Given the description of an element on the screen output the (x, y) to click on. 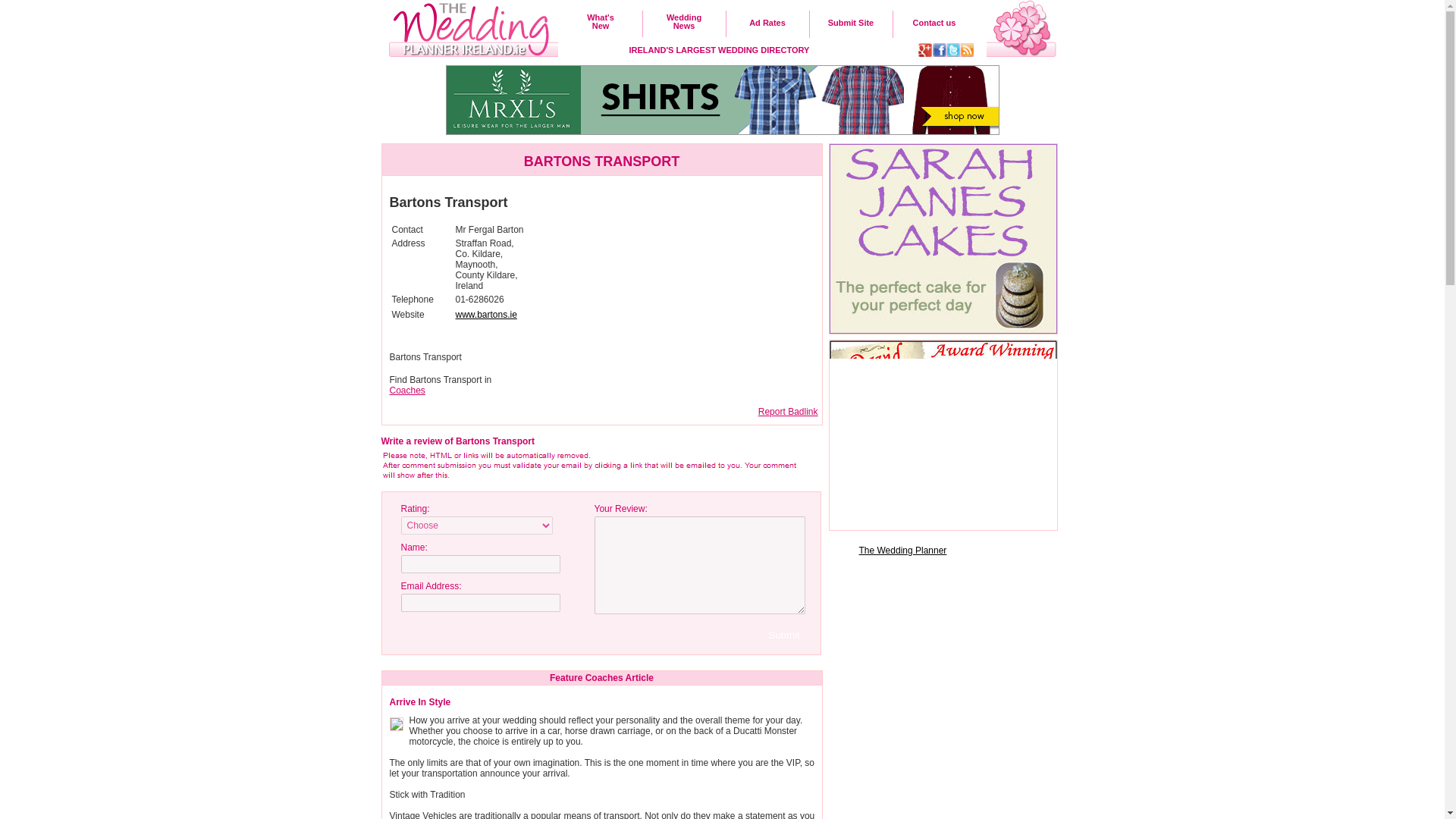
Ad Rates (767, 22)
Arrive In Style (600, 21)
Report Badlink (420, 701)
Submit (788, 411)
Coaches (784, 635)
www.bartons.ie (407, 389)
Bartons Transport review (485, 314)
Submit (588, 465)
